Given the description of an element on the screen output the (x, y) to click on. 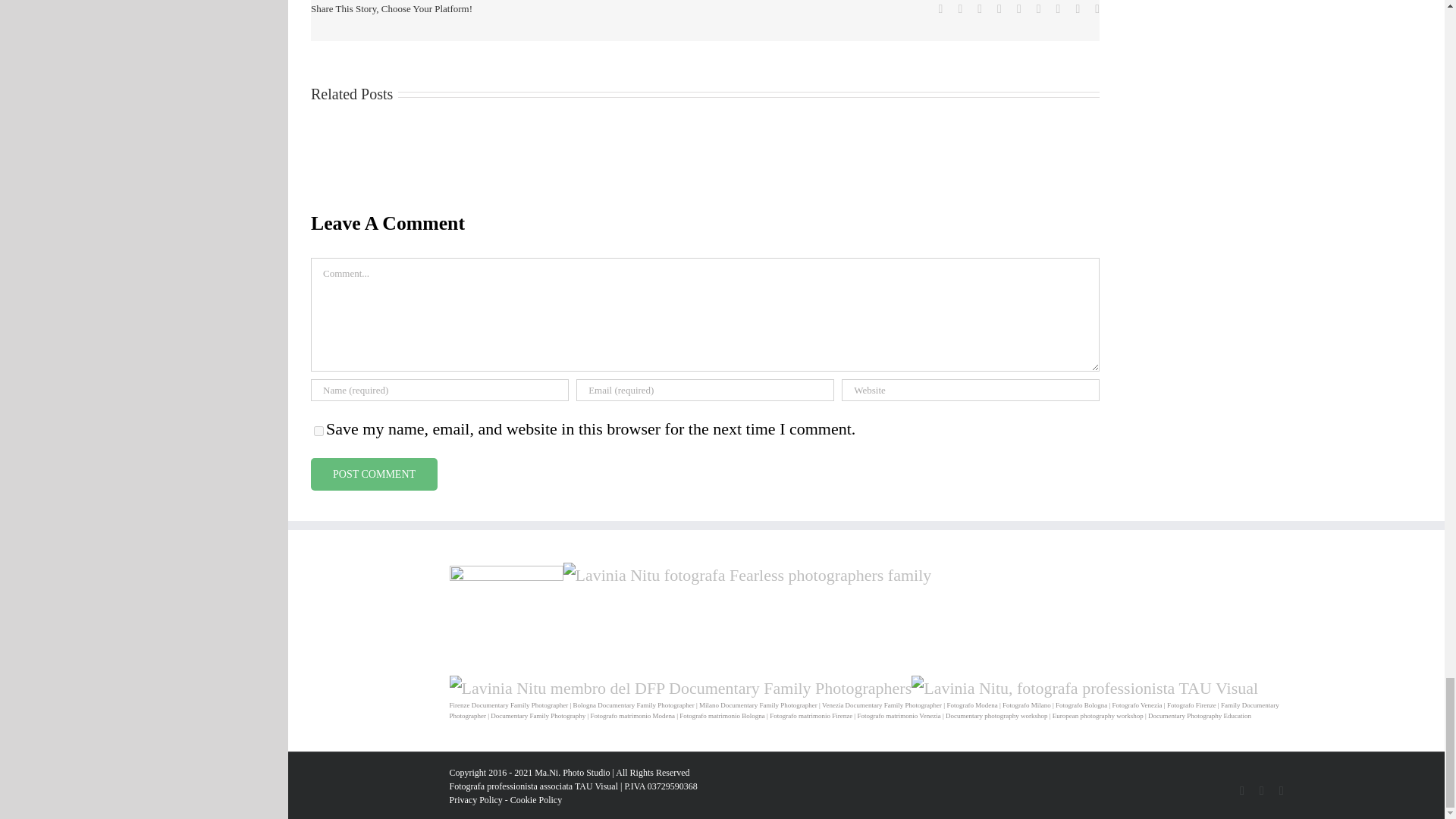
yes (318, 430)
Privacy Policy  (475, 799)
Post Comment (374, 473)
Cookie Policy  (536, 799)
